Given the description of an element on the screen output the (x, y) to click on. 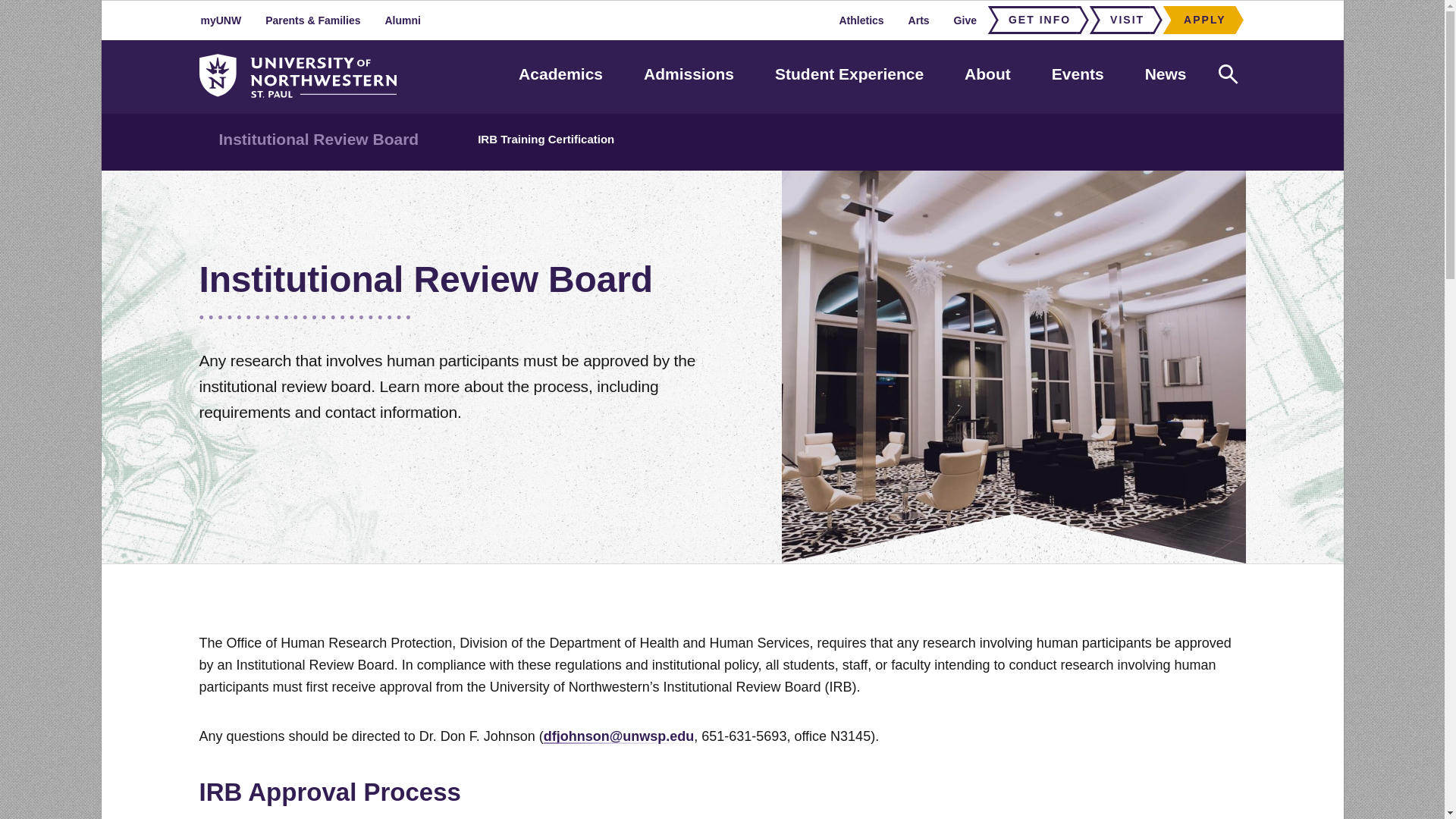
Logo Header (297, 75)
Academics (560, 73)
Alumni (402, 20)
Athletics (860, 20)
Give (964, 20)
VISIT (1121, 20)
Arts (919, 20)
Admissions (688, 73)
GET INFO (1034, 20)
APPLY (1199, 20)
